Given the description of an element on the screen output the (x, y) to click on. 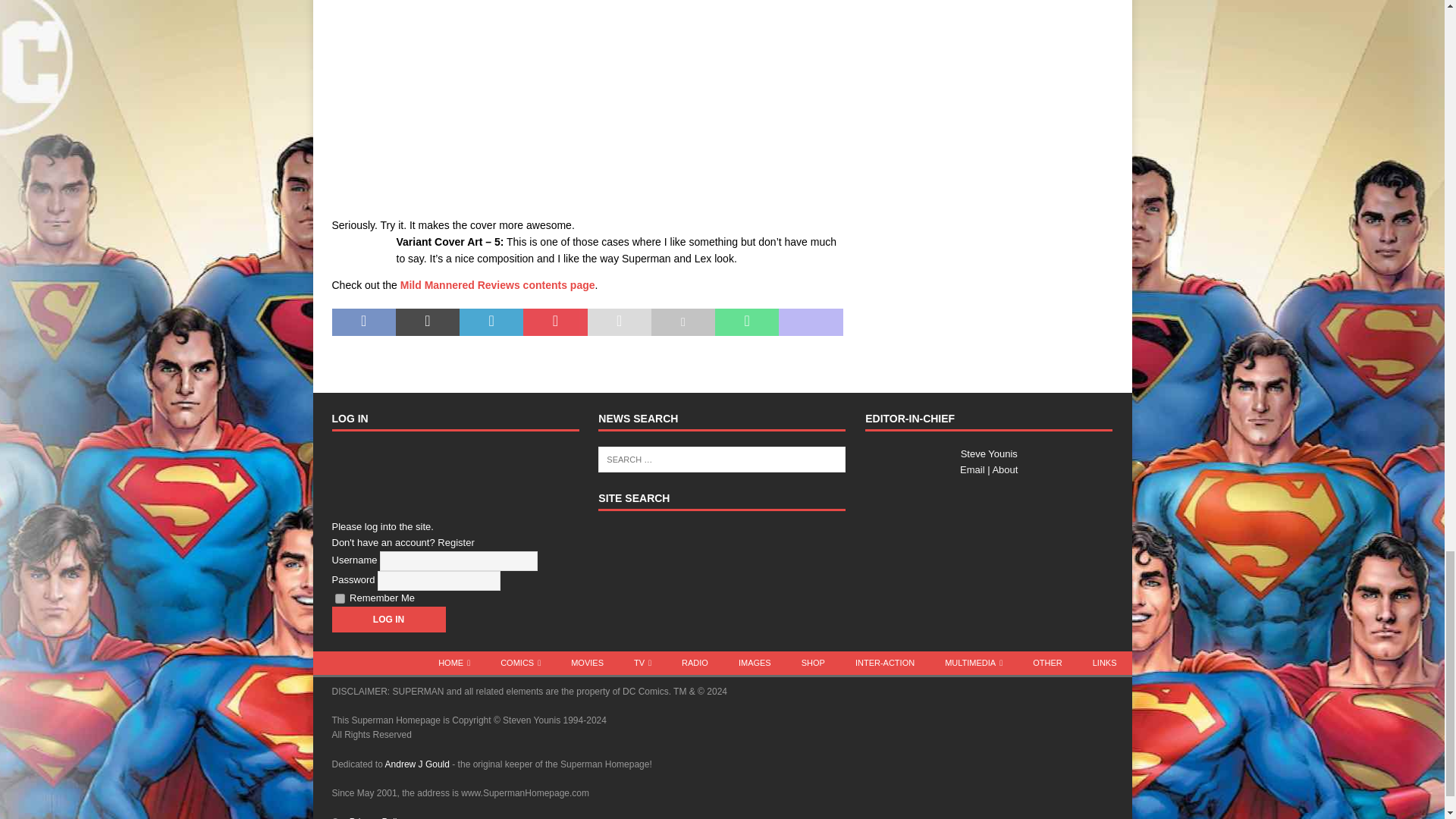
Print this article (682, 321)
Share on Whatsapp (746, 321)
Pin This Post (554, 321)
Log In (388, 619)
Share on LinkedIn (491, 321)
Send this article to a friend (619, 321)
Share on Facebook (363, 321)
Tweet This Post (428, 321)
forever (339, 598)
Share On Mastodon (810, 321)
